Given the description of an element on the screen output the (x, y) to click on. 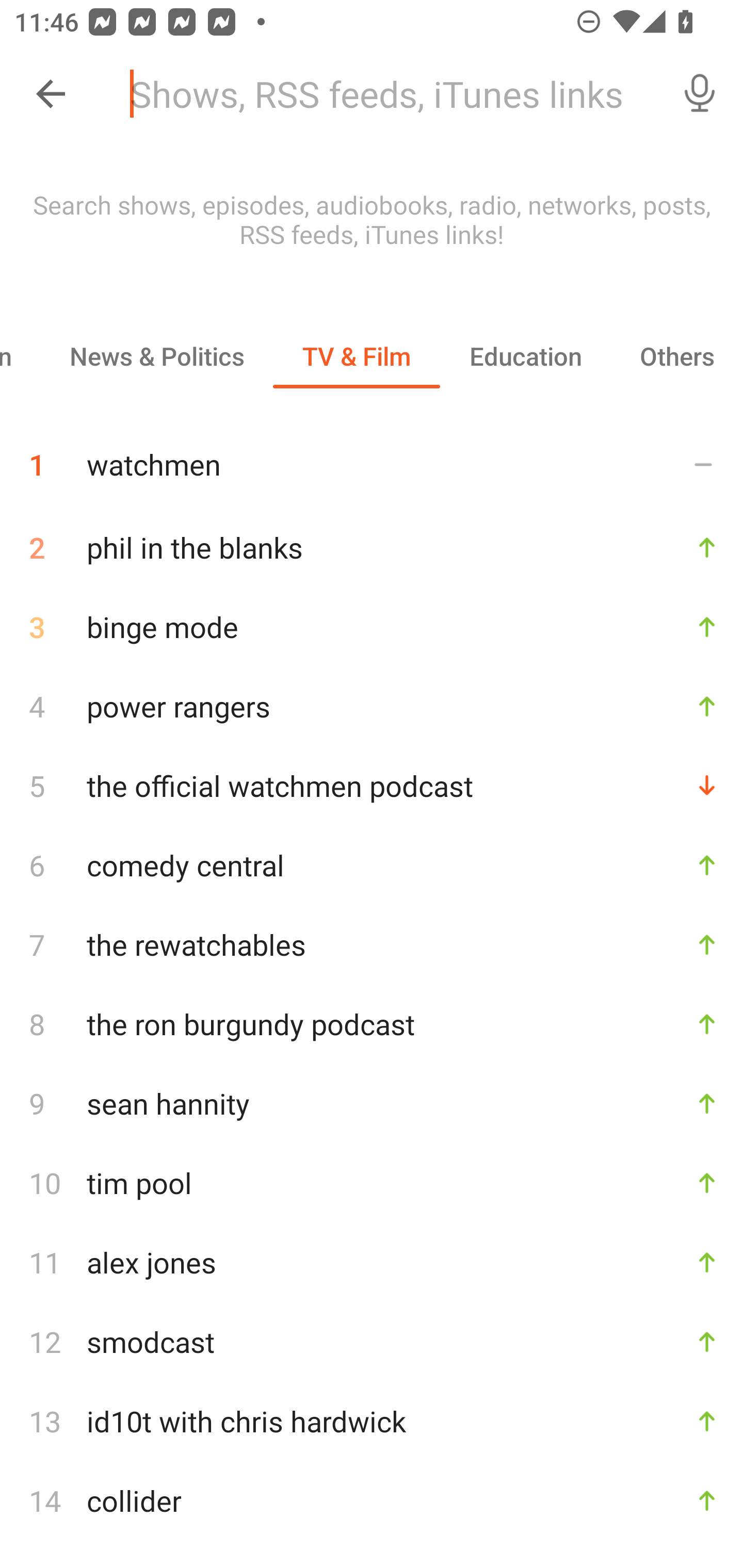
Collapse (50, 93)
Voice Search (699, 93)
Shows, RSS feeds, iTunes links (385, 94)
News & Politics (156, 355)
TV & Film (355, 355)
Education (524, 355)
Others (676, 355)
1 watchmen (371, 457)
2 phil in the blanks (371, 547)
3 binge mode (371, 626)
4 power rangers (371, 706)
5 the official watchmen podcast (371, 785)
6 comedy central (371, 864)
7 the rewatchables (371, 944)
8 the ron burgundy podcast (371, 1023)
9 sean hannity (371, 1103)
10 tim pool (371, 1183)
11 alex jones (371, 1262)
12 smodcast (371, 1341)
13 id10t with chris hardwick (371, 1421)
14 collider (371, 1500)
